Given the description of an element on the screen output the (x, y) to click on. 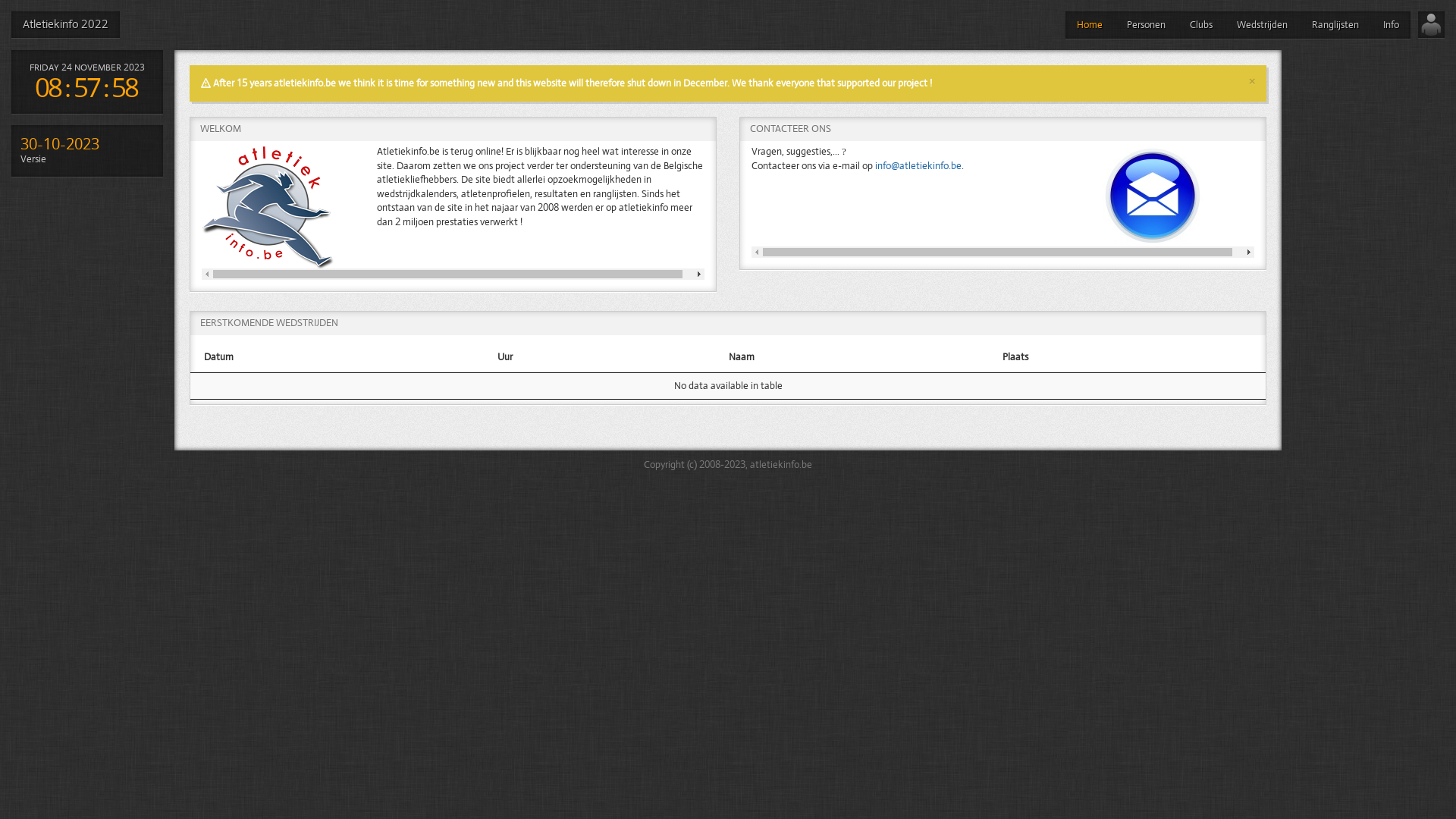
Home Element type: text (1089, 24)
Clubs Element type: text (1200, 24)
Atletiekinfo 2022 Element type: text (65, 24)
Wedstrijden Element type: text (1262, 24)
Personen Element type: text (1145, 24)
info@atletiekinfo.be Element type: text (918, 166)
Ranglijsten Element type: text (1335, 24)
Info Element type: text (1390, 24)
